Given the description of an element on the screen output the (x, y) to click on. 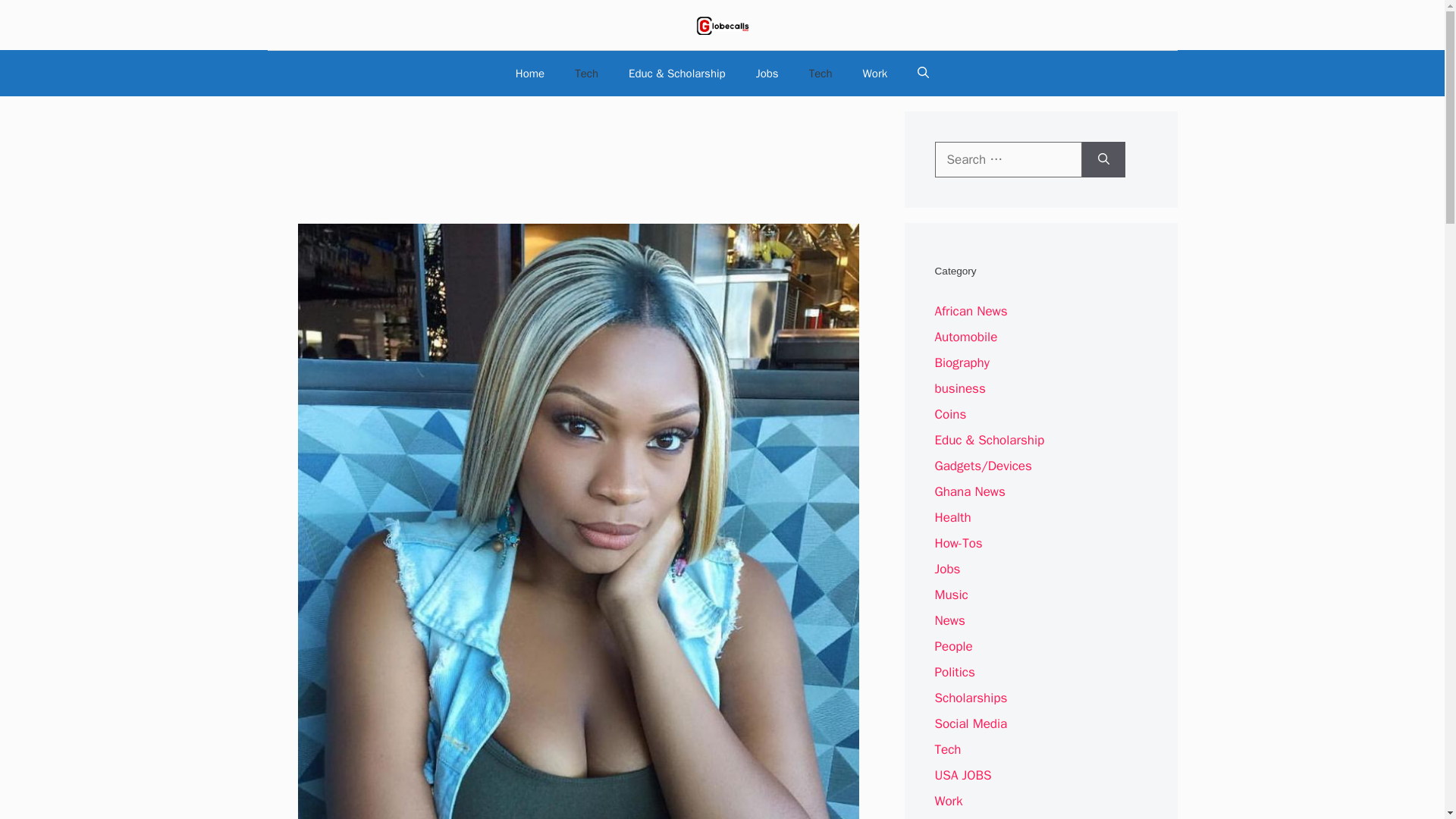
People (953, 646)
Coins (950, 414)
Scholarships (970, 697)
Jobs (946, 569)
How-Tos (957, 543)
Jobs (767, 73)
Tech (820, 73)
Social Media (970, 723)
African News (970, 311)
Tech (585, 73)
Biography (961, 362)
Ghana News (969, 491)
Automobile (965, 336)
Home (529, 73)
News (948, 620)
